Given the description of an element on the screen output the (x, y) to click on. 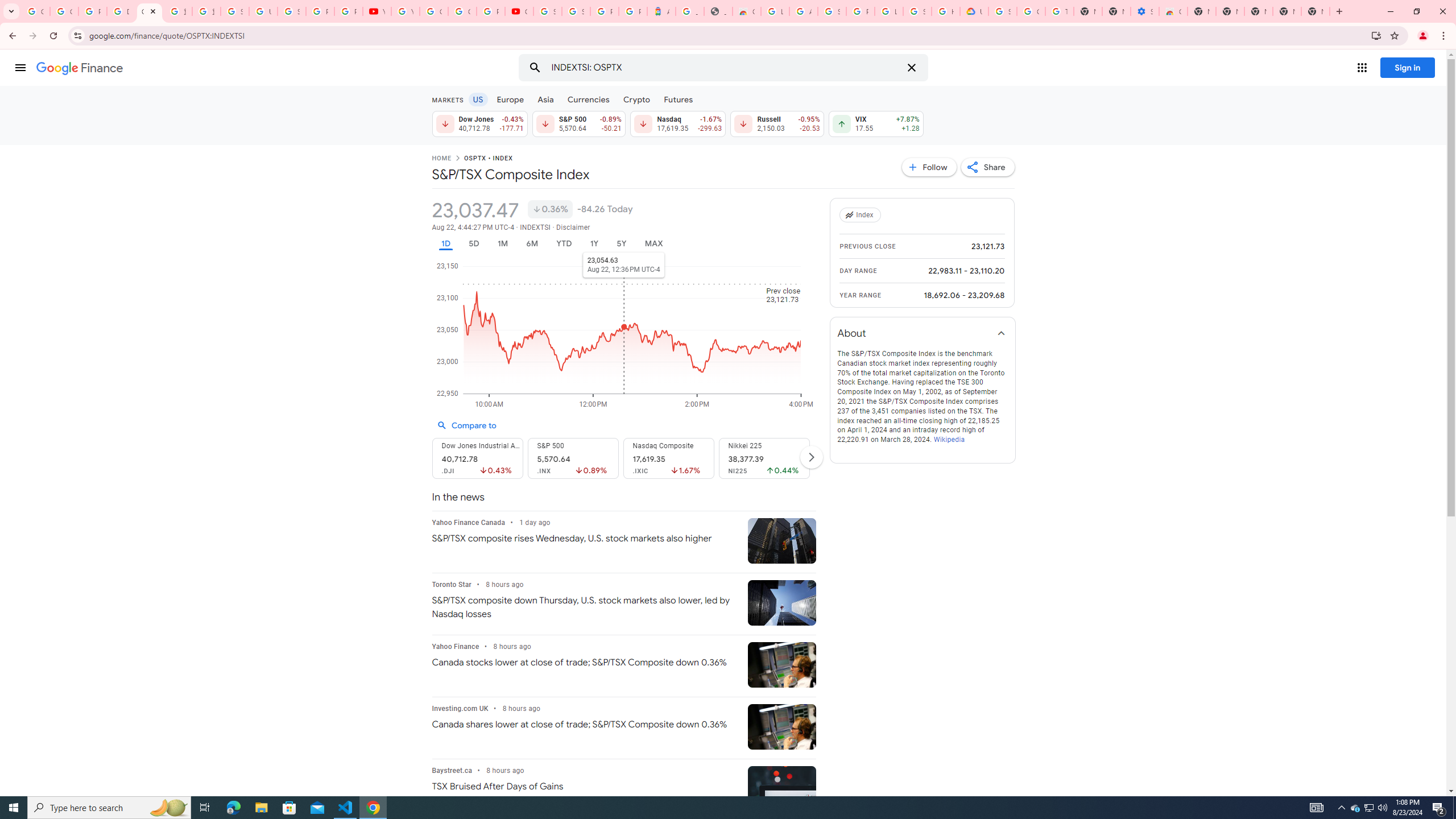
Google Account Help (1030, 11)
Asia (545, 99)
